Given the description of an element on the screen output the (x, y) to click on. 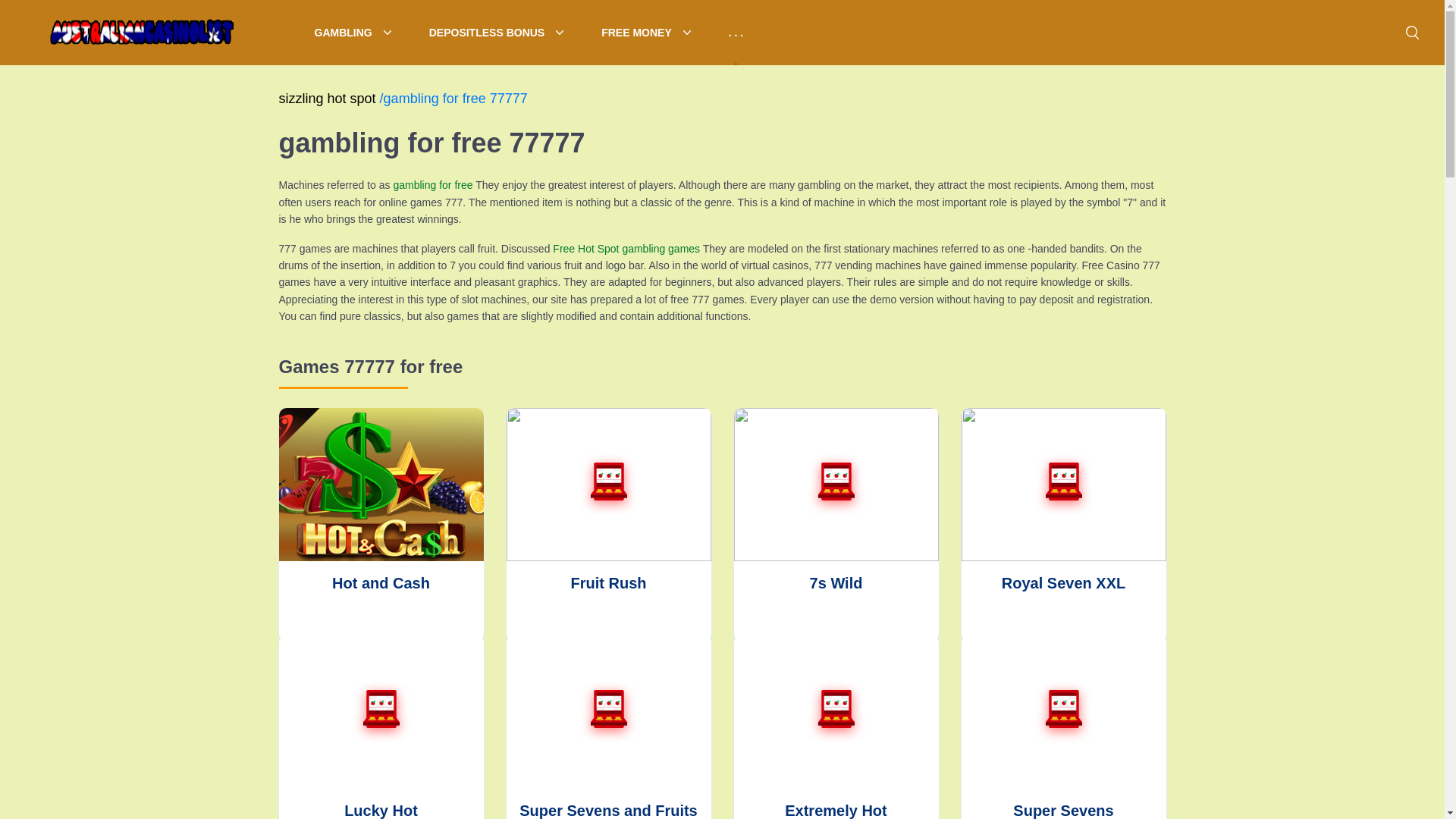
sizzling hot spot (329, 98)
Lucky Hot (381, 727)
GAMBLING (352, 32)
gambling for free (432, 184)
DEPOSITLESS BONUS (496, 32)
FREE MONEY (646, 32)
Super Sevens (1063, 727)
Extremely Hot (836, 727)
Free Hot Spot gambling games (626, 248)
Super Sevens and Fruits (608, 727)
